Given the description of an element on the screen output the (x, y) to click on. 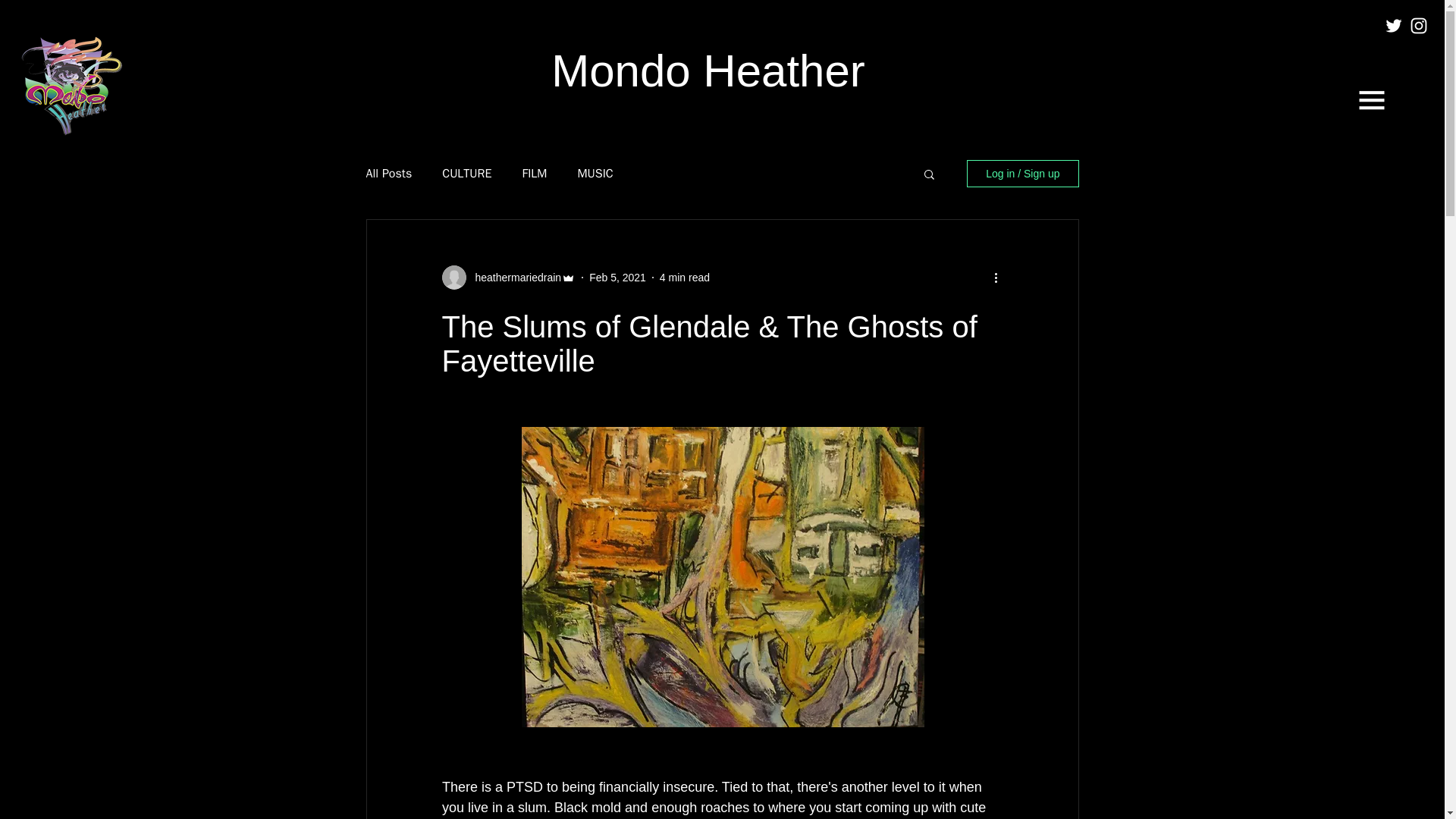
Mondo Heather (708, 71)
Feb 5, 2021 (617, 277)
MUSIC (594, 172)
heathermariedrain (512, 277)
All Posts (388, 172)
CULTURE (467, 172)
FILM (534, 172)
4 min read (684, 277)
